Given the description of an element on the screen output the (x, y) to click on. 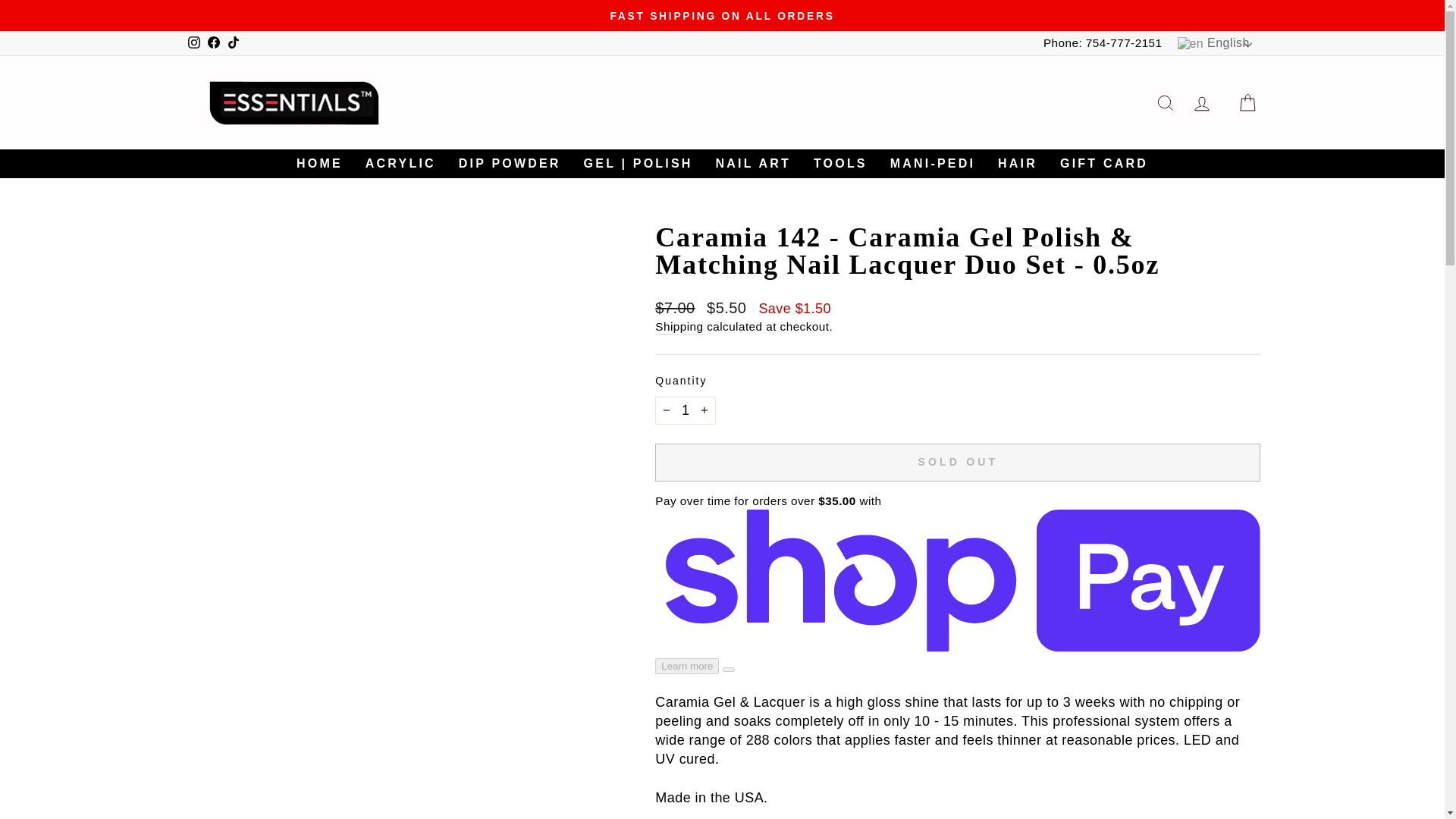
1 (685, 410)
